Given the description of an element on the screen output the (x, y) to click on. 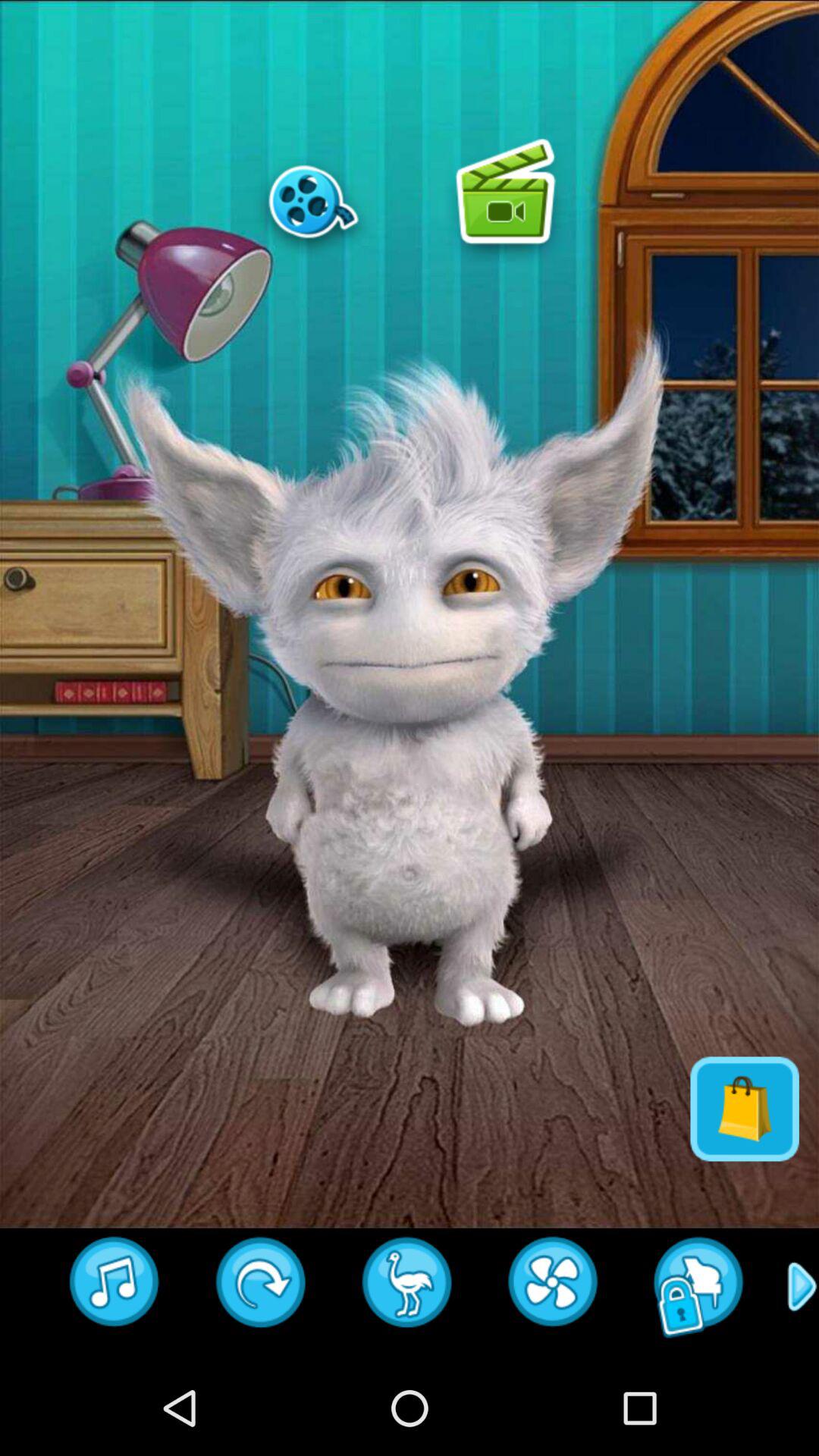
next button (261, 1287)
